Given the description of an element on the screen output the (x, y) to click on. 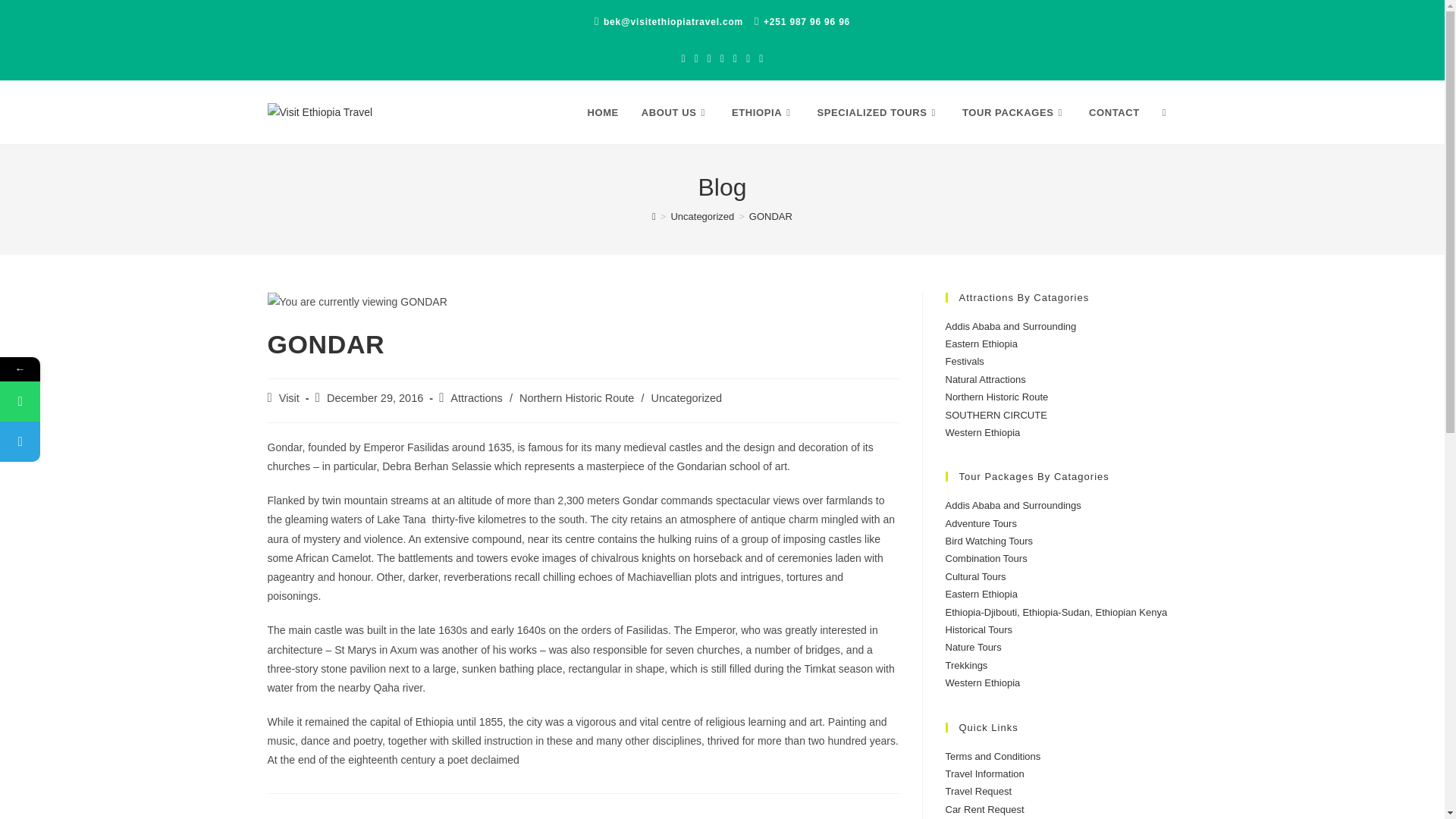
Telegram (20, 441)
WhatsApp (20, 401)
Posts by Visit (289, 398)
Telegram (92, 441)
WhatsApp (92, 401)
HOME (601, 112)
SPECIALIZED TOURS (877, 112)
ETHIOPIA (763, 112)
TOUR PACKAGES (1013, 112)
ABOUT US (675, 112)
